Given the description of an element on the screen output the (x, y) to click on. 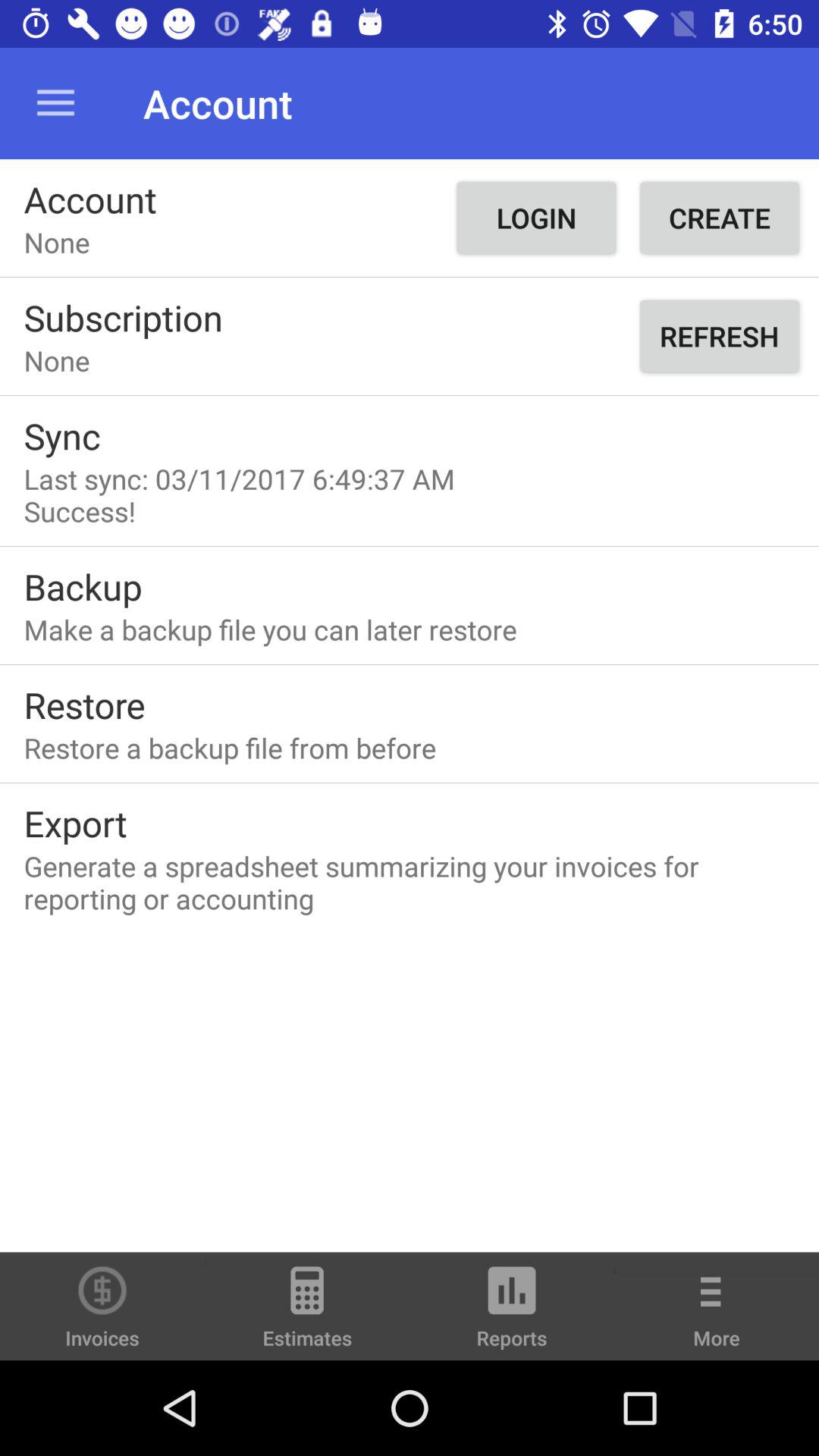
turn on create item (719, 217)
